Given the description of an element on the screen output the (x, y) to click on. 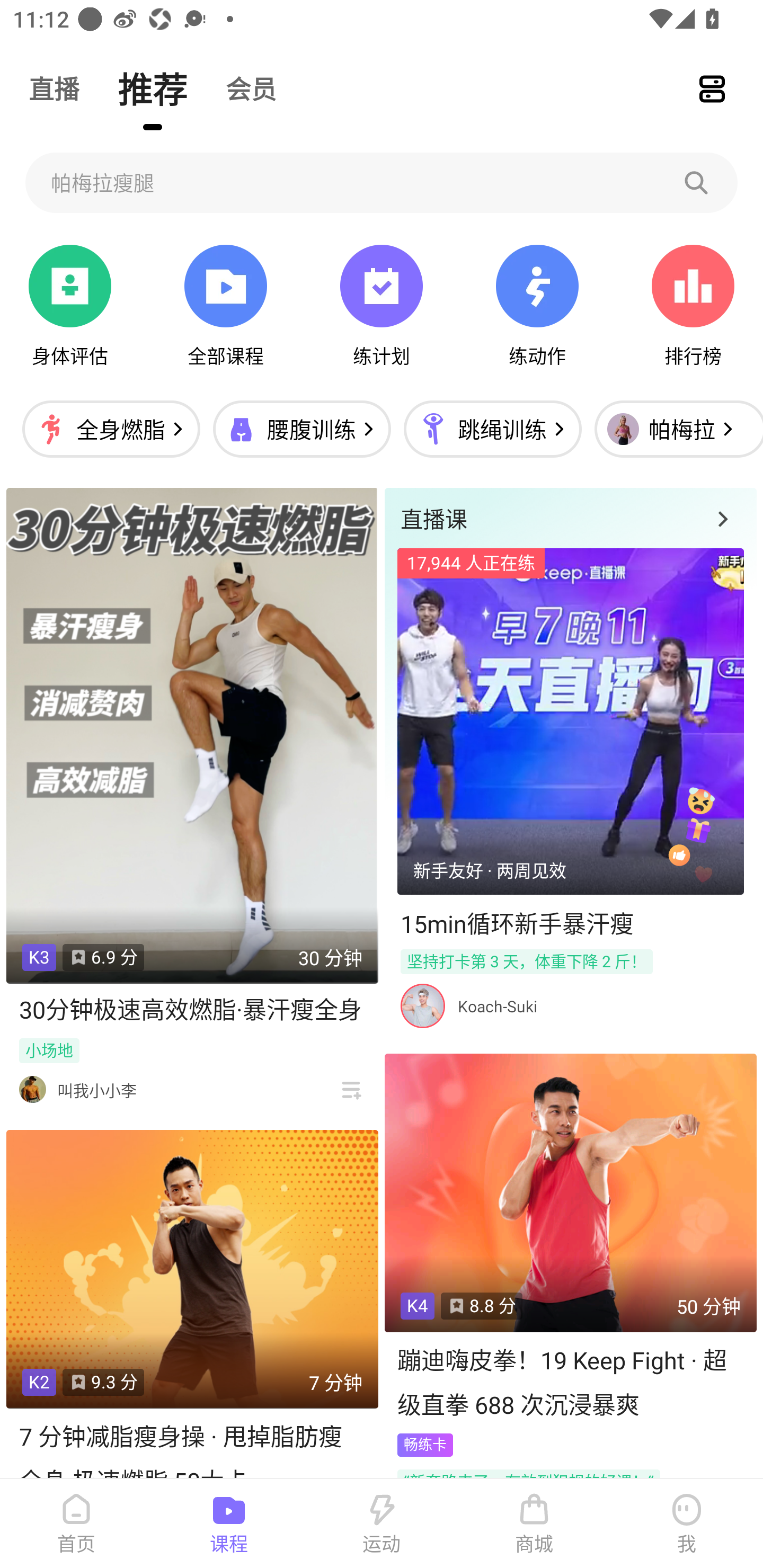
直播 (53, 88)
推荐 (152, 88)
会员 (251, 88)
帕梅拉瘦腿 (381, 182)
身体评估 (69, 306)
全部课程 (225, 306)
练计划 (381, 306)
练动作 (537, 306)
排行榜 (692, 306)
全身燃脂 更多 (110, 428)
腰腹训练 更多 (301, 428)
跳绳训练 更多 (492, 428)
帕梅拉 更多 (673, 428)
K3 6.9 分 30 分钟 30分钟极速高效燃脂·暴汗瘦全身 小场地 叫我小小李 (192, 798)
直播课 (570, 517)
Koach-Suki (497, 1006)
叫我小小李 (96, 1090)
K2 9.3 分 7 分钟 7 分钟减脂瘦身操 · 甩掉脂肪瘦全身 极速燃脂 50大卡 (192, 1304)
首页 (76, 1523)
课程 (228, 1523)
运动 (381, 1523)
商城 (533, 1523)
我 (686, 1523)
